Given the description of an element on the screen output the (x, y) to click on. 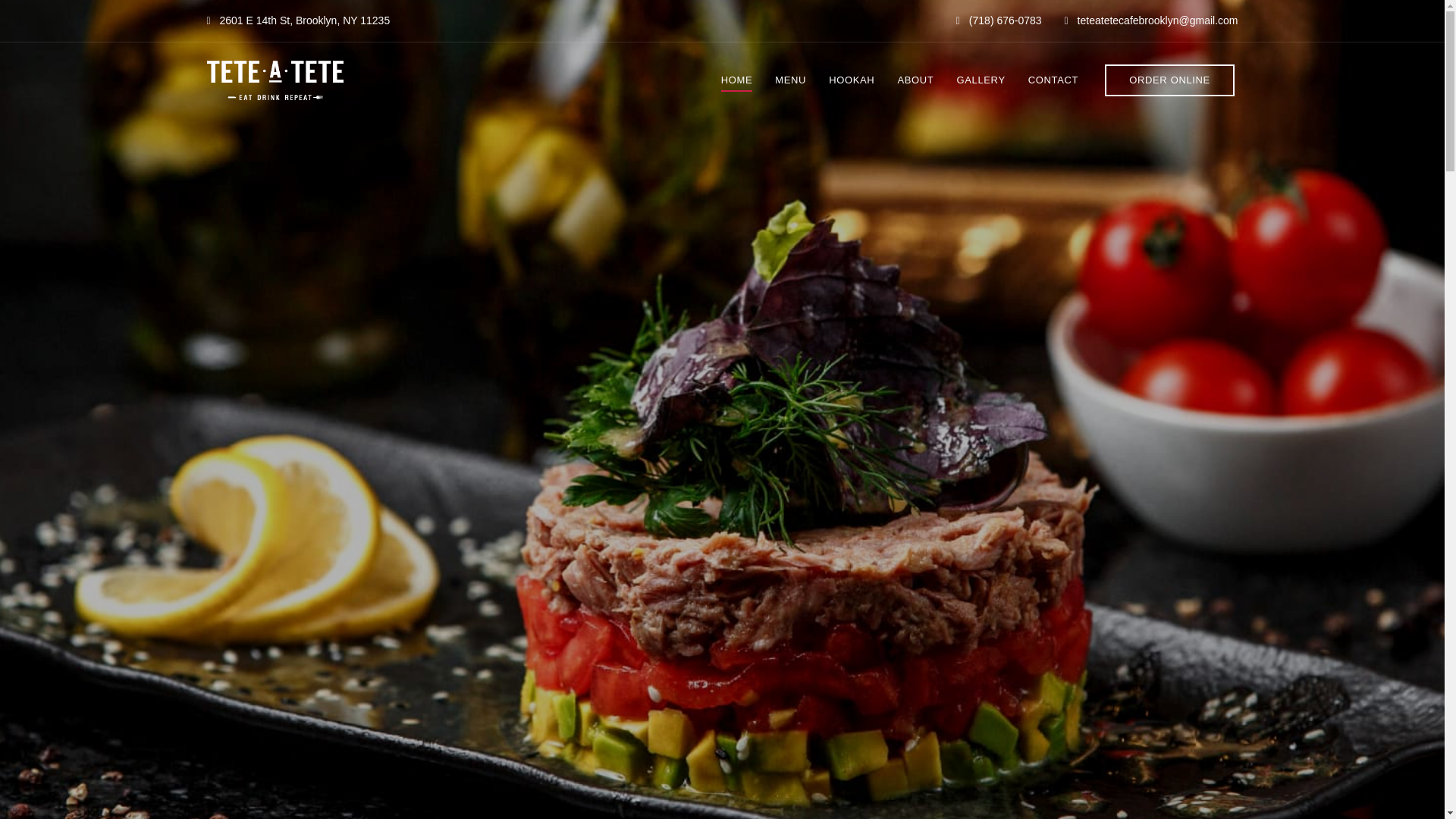
ORDER ONLINE (1169, 80)
HOME (737, 80)
2601 E 14th St, Brooklyn, NY 11235 (298, 20)
GALLERY (980, 80)
CONTACT (1052, 80)
MENU (789, 80)
ABOUT (914, 80)
HOOKAH (850, 80)
